Given the description of an element on the screen output the (x, y) to click on. 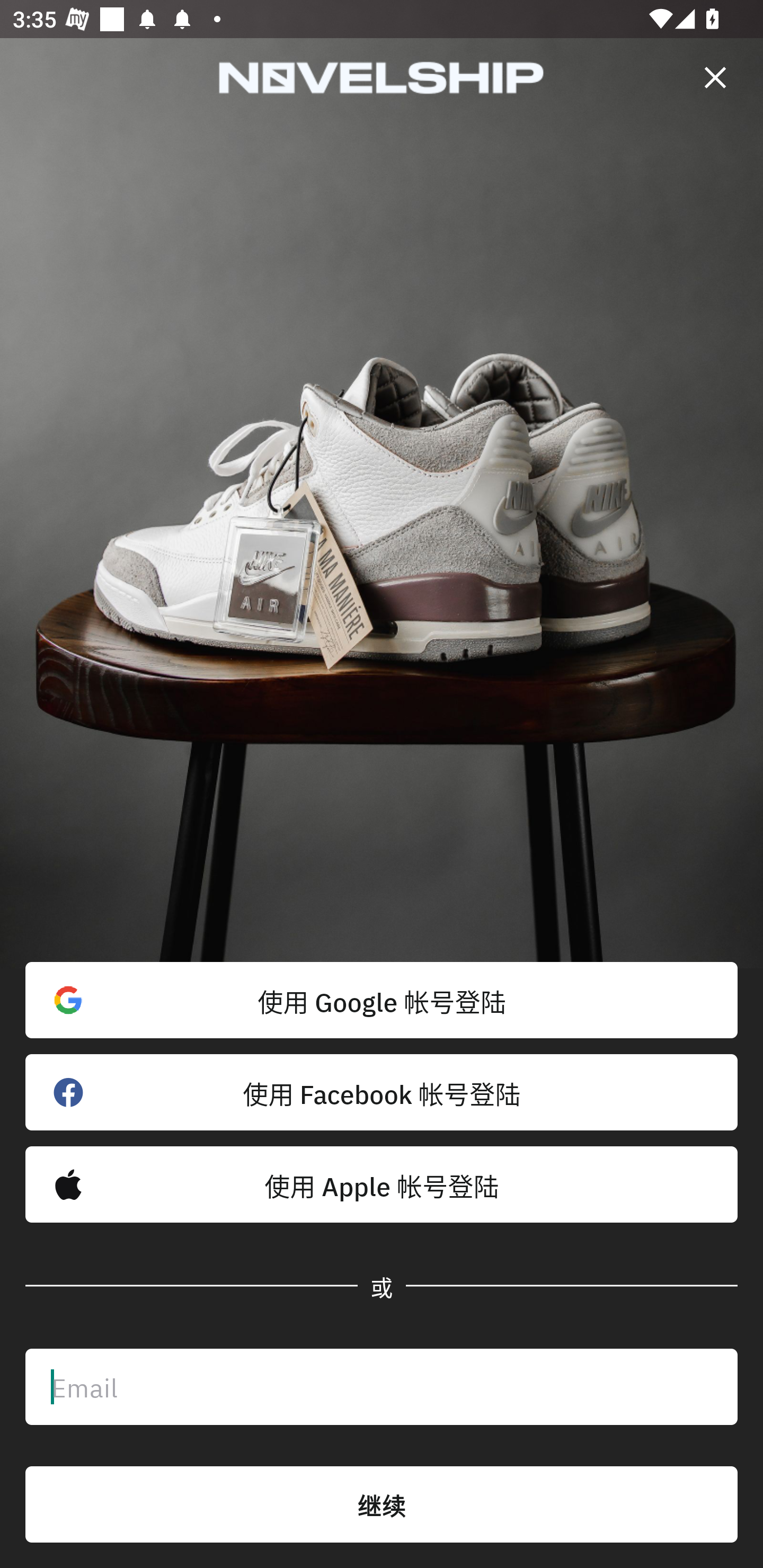
使用 Google 帐号登陆 (381, 1000)
使用 Facebook 帐号登陆 󰈌 (381, 1091)
 使用 Apple 帐号登陆 (381, 1184)
Email (381, 1386)
继续 (381, 1504)
